Given the description of an element on the screen output the (x, y) to click on. 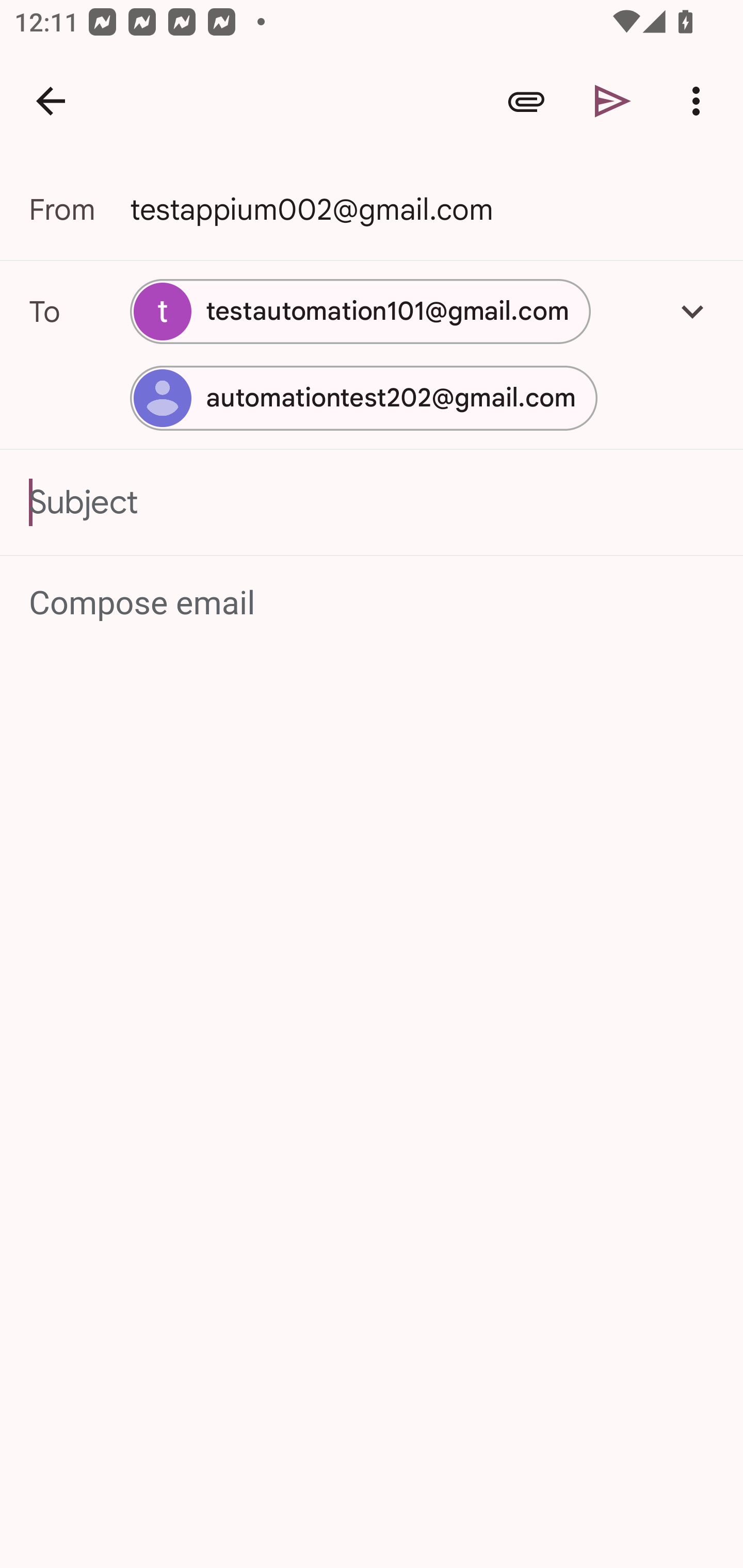
Navigate up (50, 101)
Attach file (525, 101)
Send (612, 101)
More options (699, 101)
From (79, 209)
Add Cc/Bcc (692, 311)
Subject (371, 502)
Compose email (372, 603)
